Given the description of an element on the screen output the (x, y) to click on. 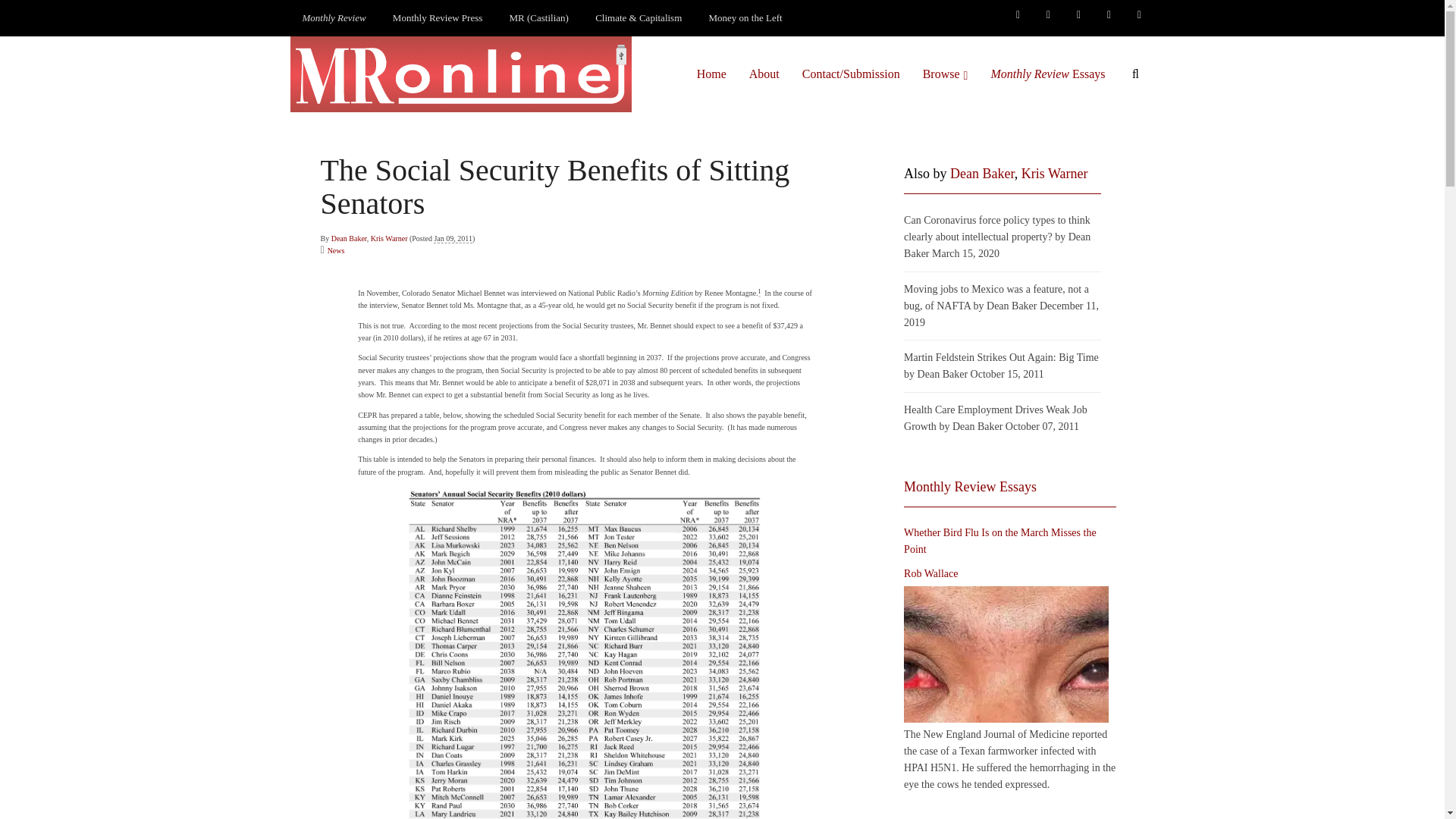
Monthly Review Magazine (333, 18)
Click to enlarge (585, 652)
Browse (945, 74)
Posts by Rob Wallace (931, 573)
Money on the Left (745, 18)
Monthly Review (333, 18)
Whether Bird Flu Is on the March Misses the Point (1006, 654)
Monthly Review Press (437, 18)
